Given the description of an element on the screen output the (x, y) to click on. 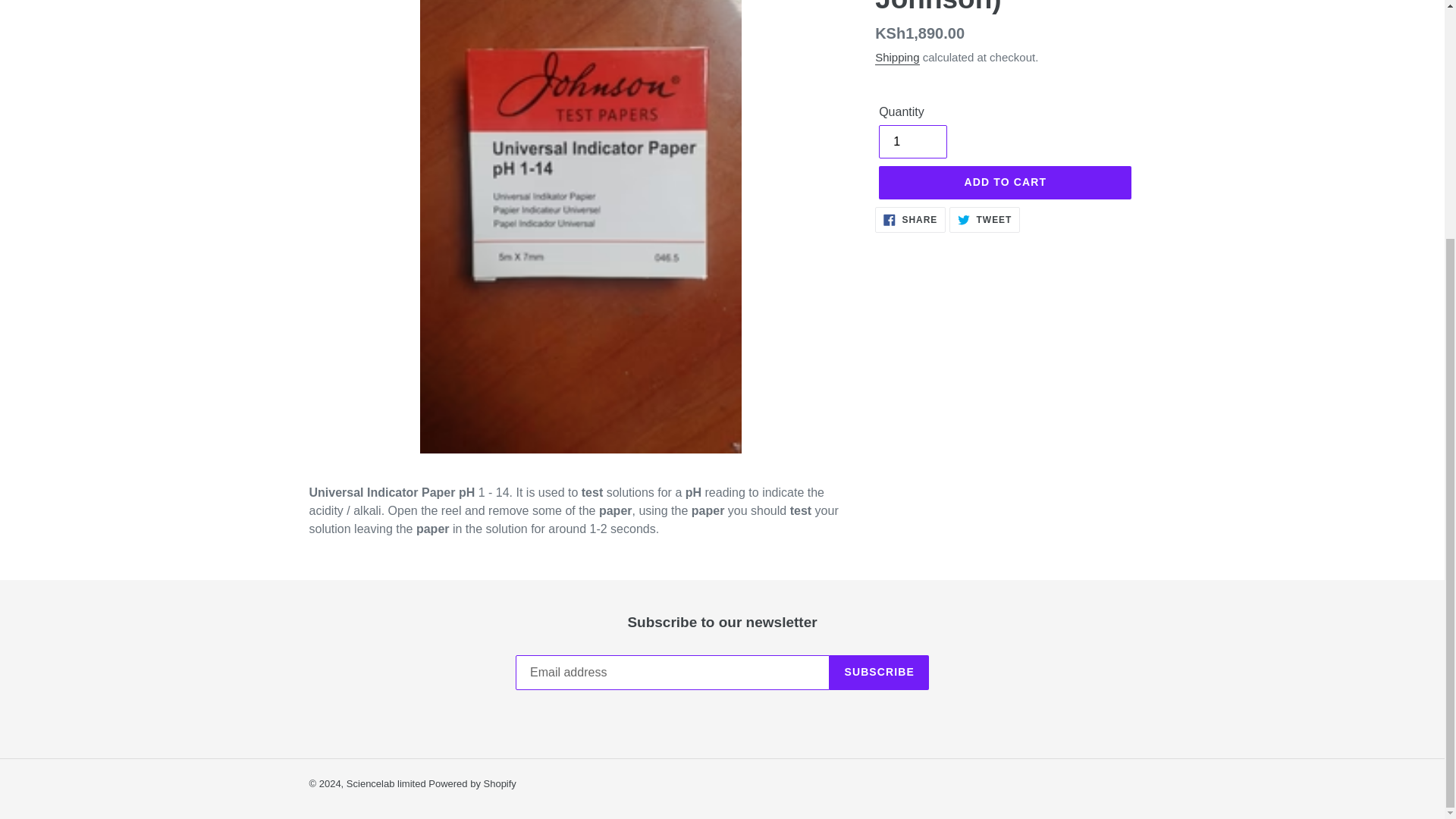
1 (913, 141)
SUBSCRIBE (878, 672)
Shipping (984, 219)
Powered by Shopify (896, 57)
Sciencelab limited (472, 783)
ADD TO CART (387, 783)
